Given the description of an element on the screen output the (x, y) to click on. 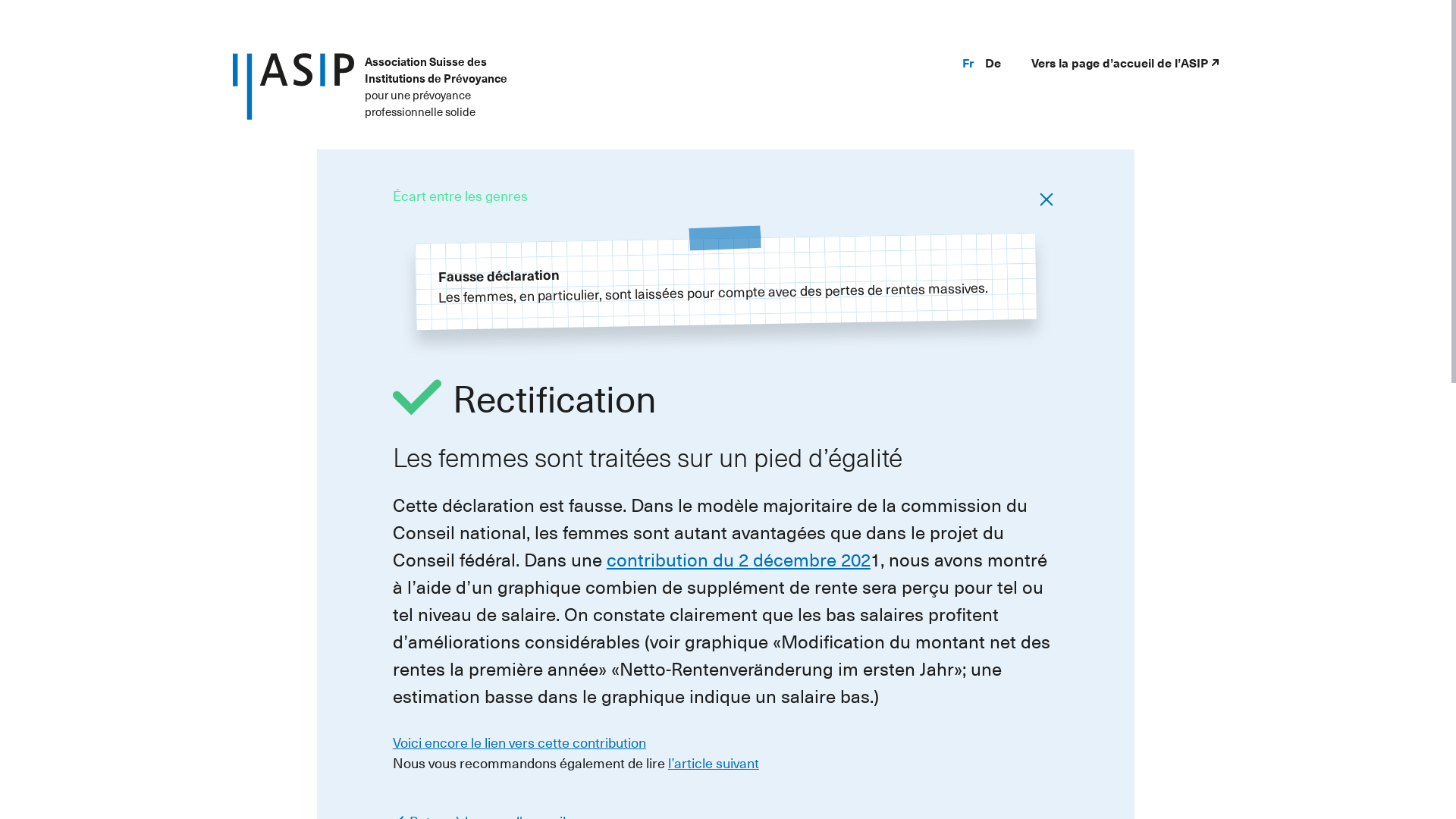
Fr Element type: text (967, 62)
De Element type: text (993, 62)
Voici encore le lien vers cette contribution Element type: text (519, 741)
